Given the description of an element on the screen output the (x, y) to click on. 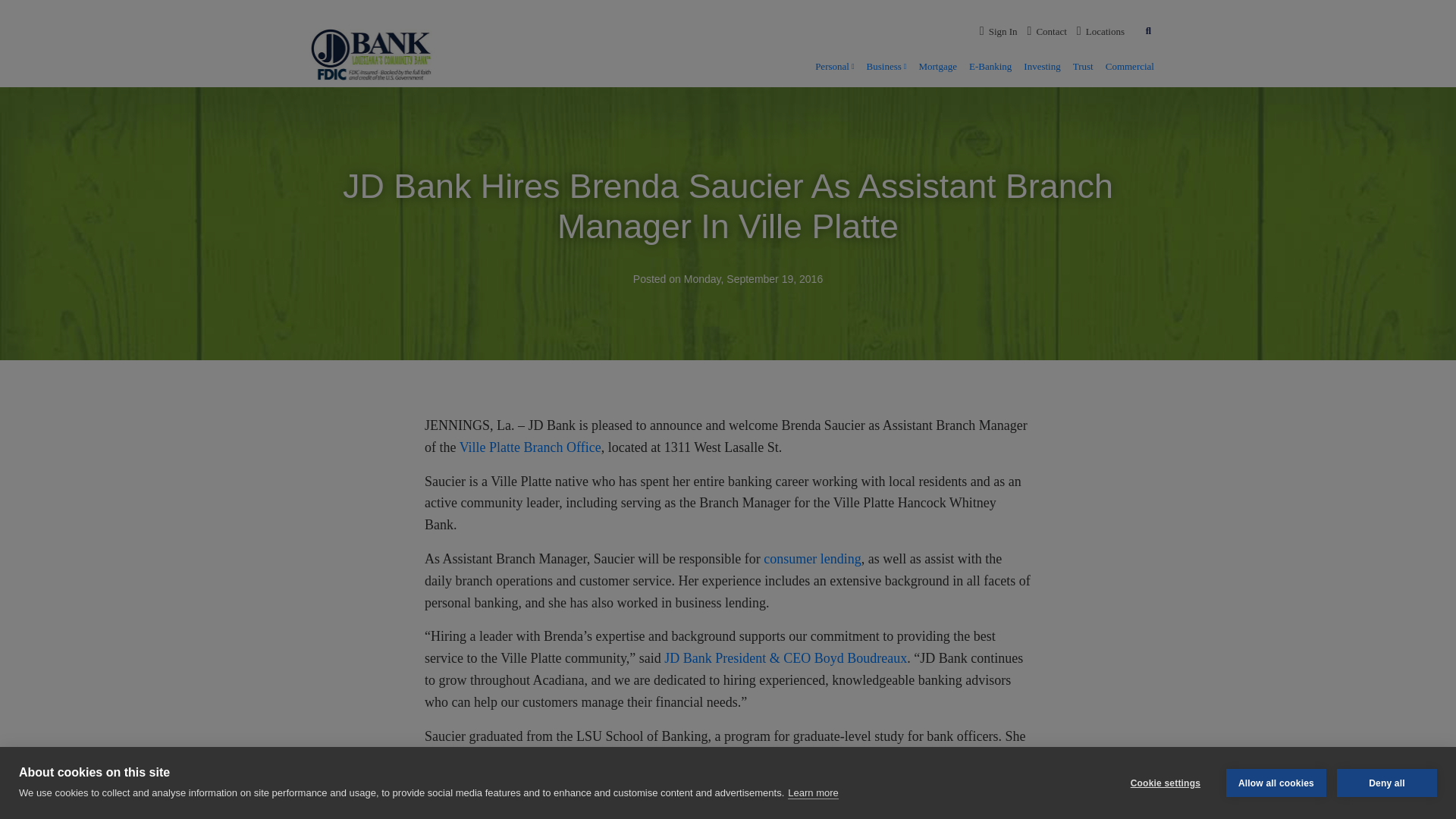
JD Bank Web Chat Launcher (1398, 777)
